Given the description of an element on the screen output the (x, y) to click on. 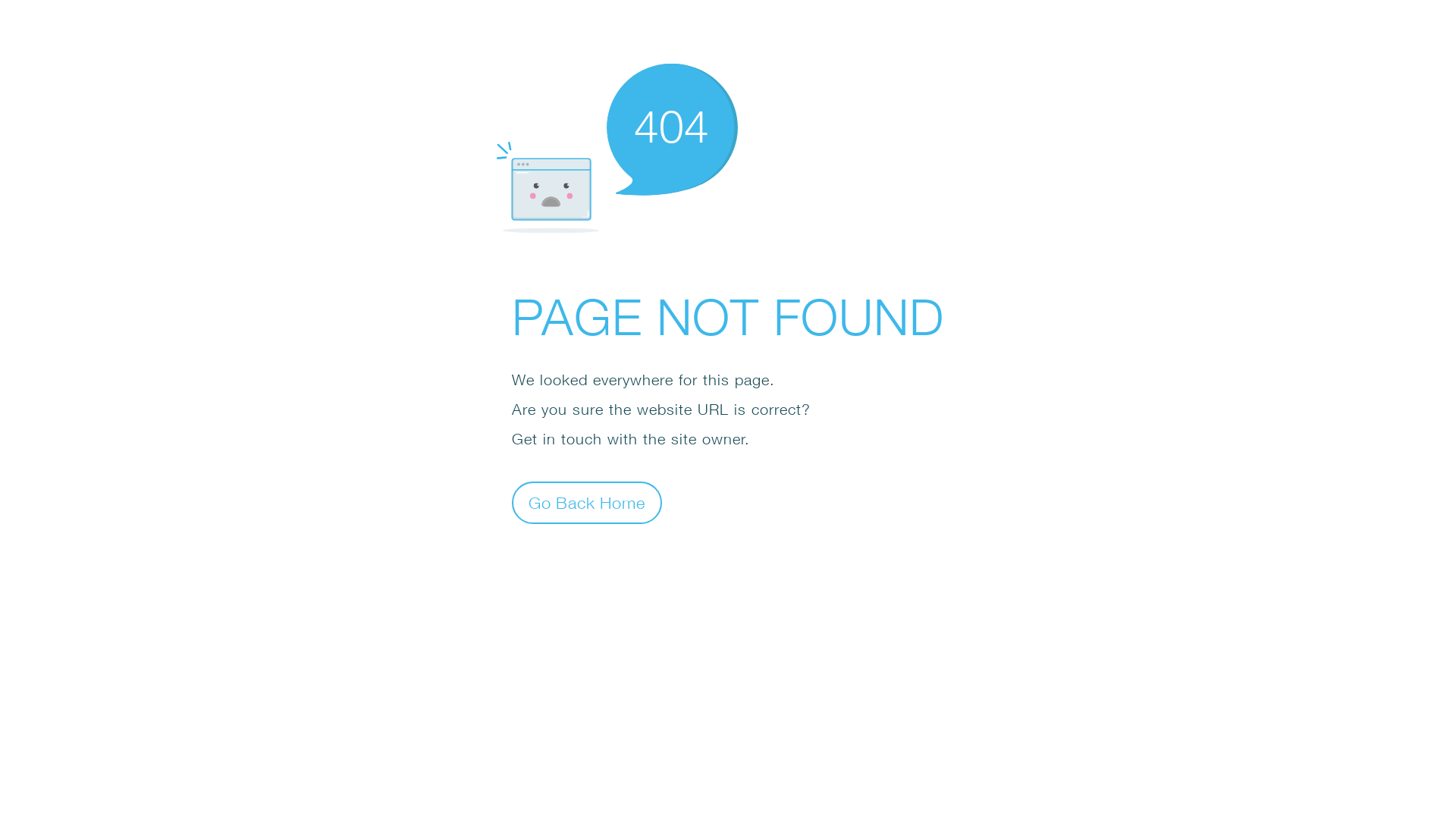
Go Back Home Element type: text (586, 502)
